Given the description of an element on the screen output the (x, y) to click on. 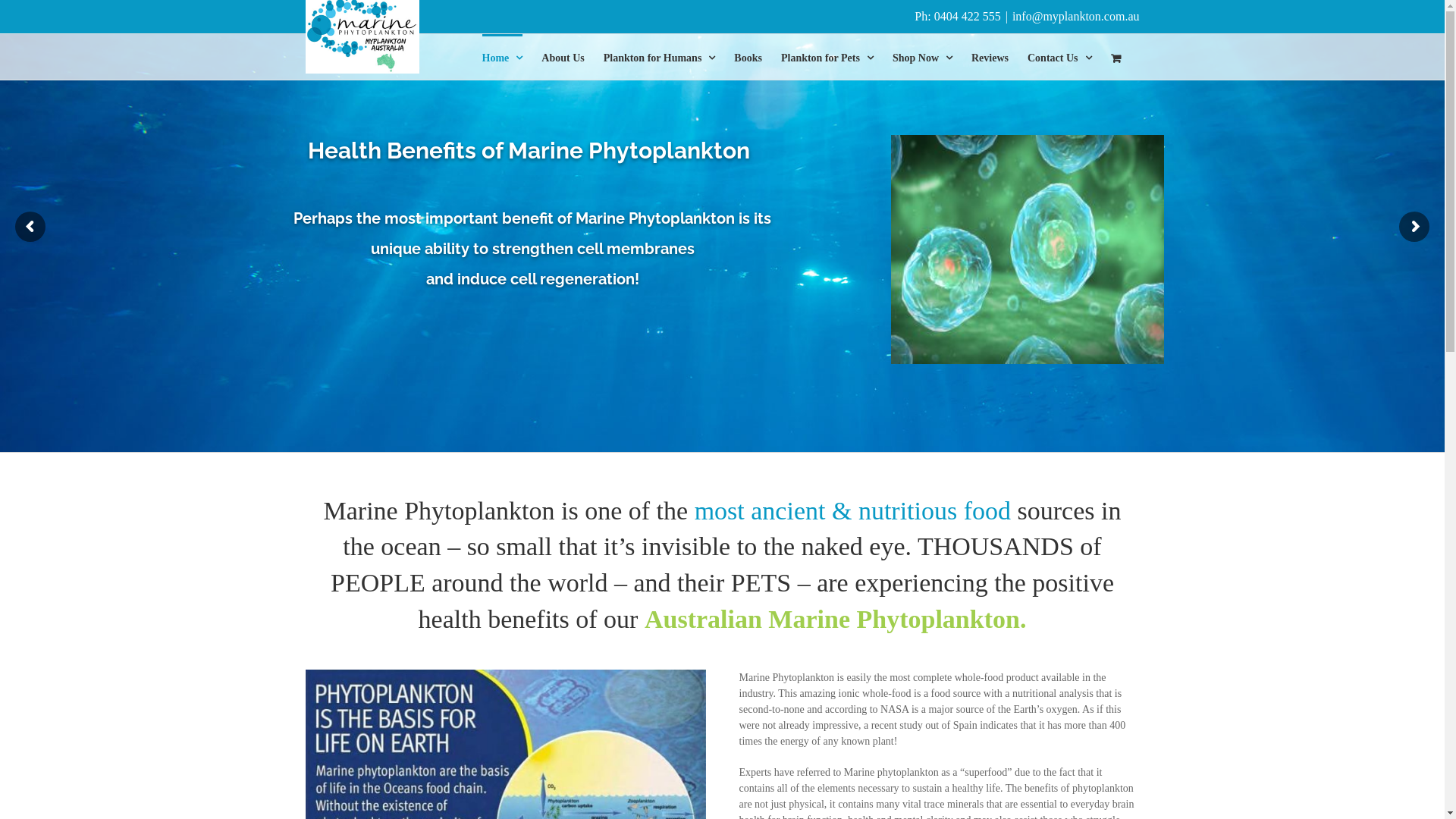
info@myplankton.com.au Element type: text (1075, 15)
Books Element type: text (748, 56)
Plankton for Pets Element type: text (827, 56)
Reviews Element type: text (989, 56)
Shop Now Element type: text (922, 56)
About Us Element type: text (562, 56)
Contact Us Element type: text (1059, 56)
Ph: 0404 422 555 Element type: text (957, 15)
Plankton for Humans Element type: text (659, 56)
Home Element type: text (502, 56)
